Given the description of an element on the screen output the (x, y) to click on. 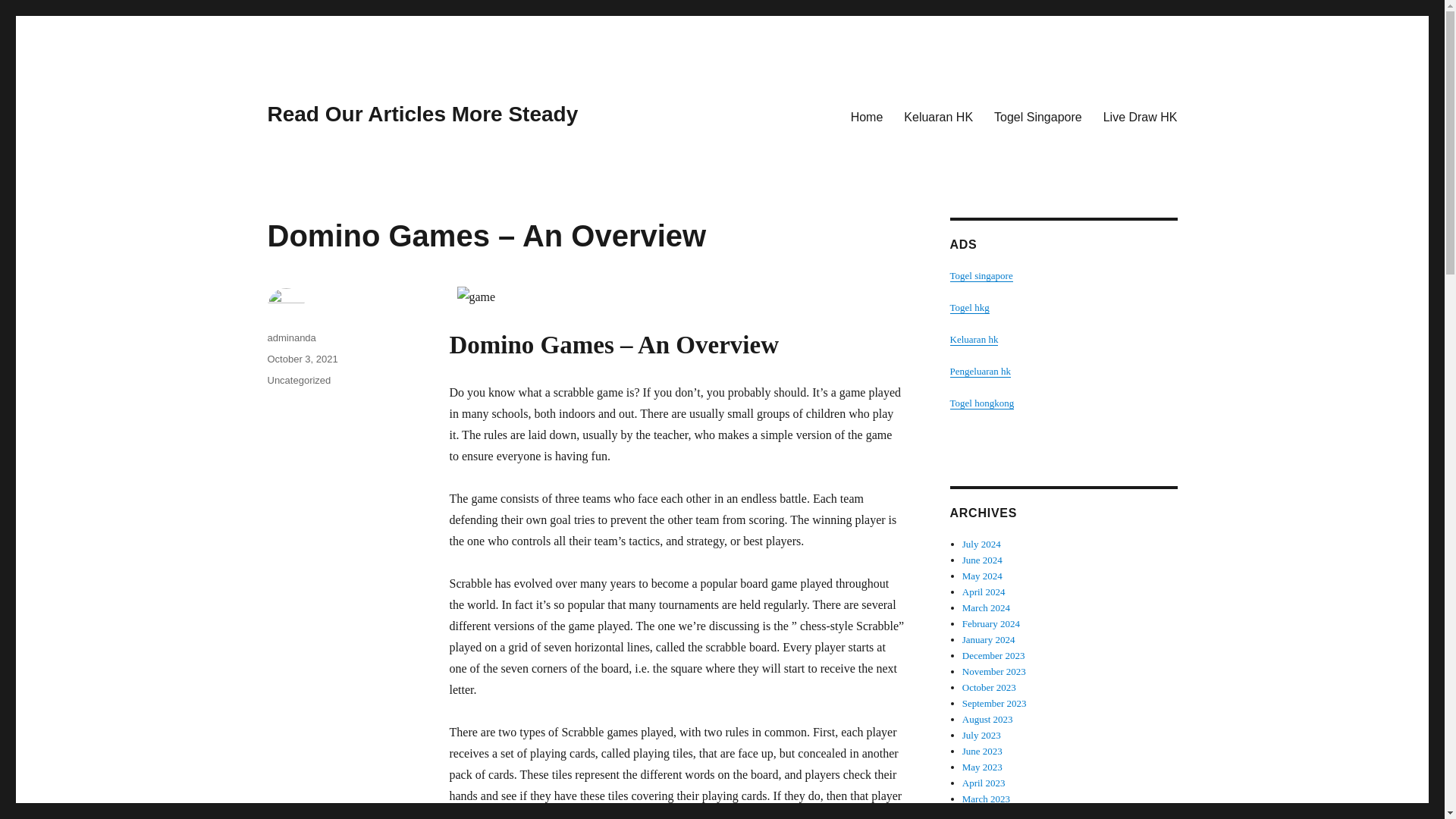
February 2023 (991, 814)
Keluaran hk (973, 338)
March 2023 (986, 798)
June 2023 (982, 750)
Pengeluaran hk (979, 370)
August 2023 (987, 718)
January 2024 (988, 639)
Togel Singapore (1038, 116)
Togel singapore (980, 275)
October 3, 2021 (301, 358)
Live Draw HK (1140, 116)
July 2023 (981, 735)
March 2024 (986, 607)
adminanda (290, 337)
Home (866, 116)
